Given the description of an element on the screen output the (x, y) to click on. 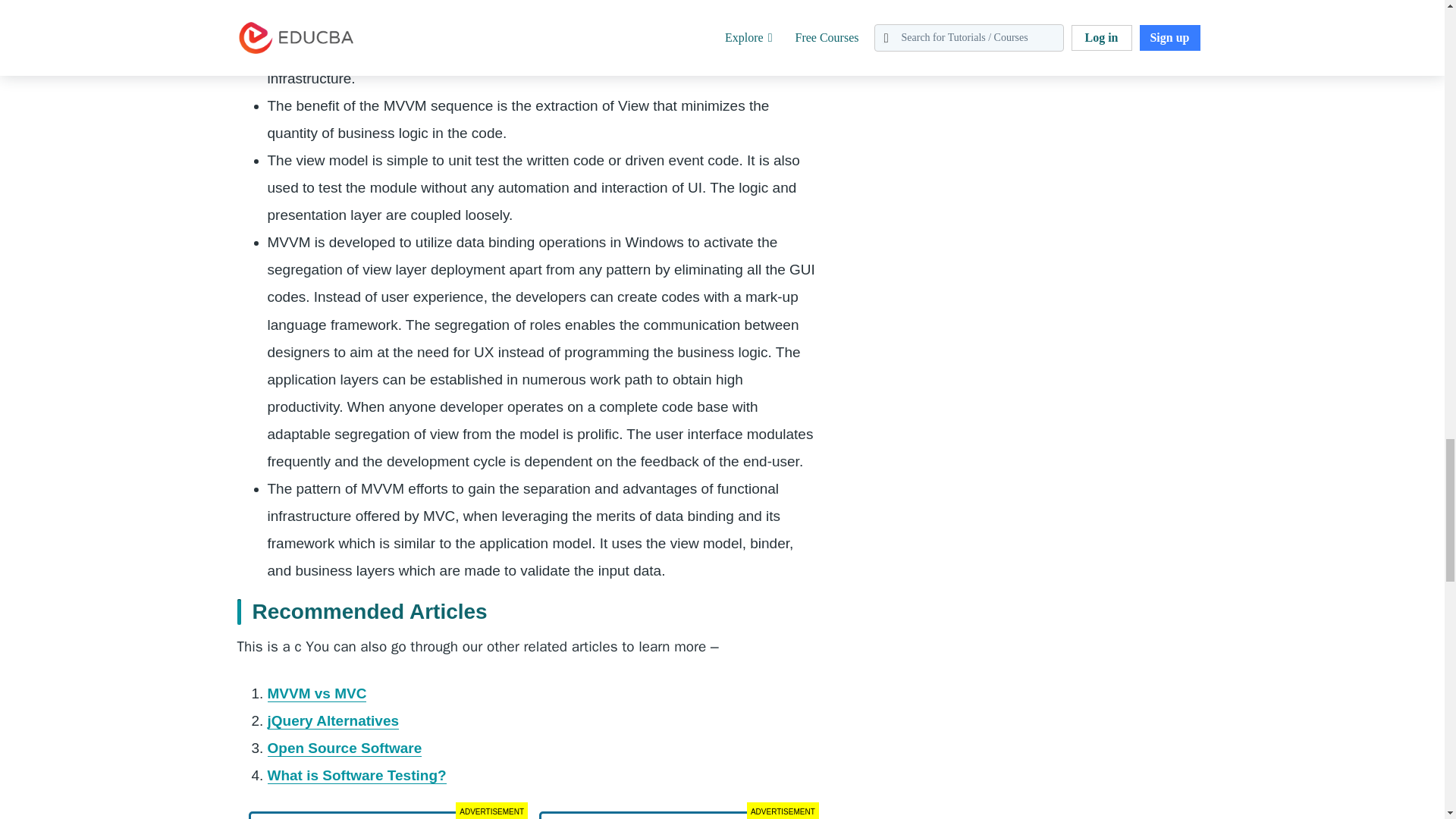
Open Source Software (344, 748)
MVVM vs MVC (316, 693)
jQuery Alternatives (332, 720)
What is Software Testing? (355, 775)
